Given the description of an element on the screen output the (x, y) to click on. 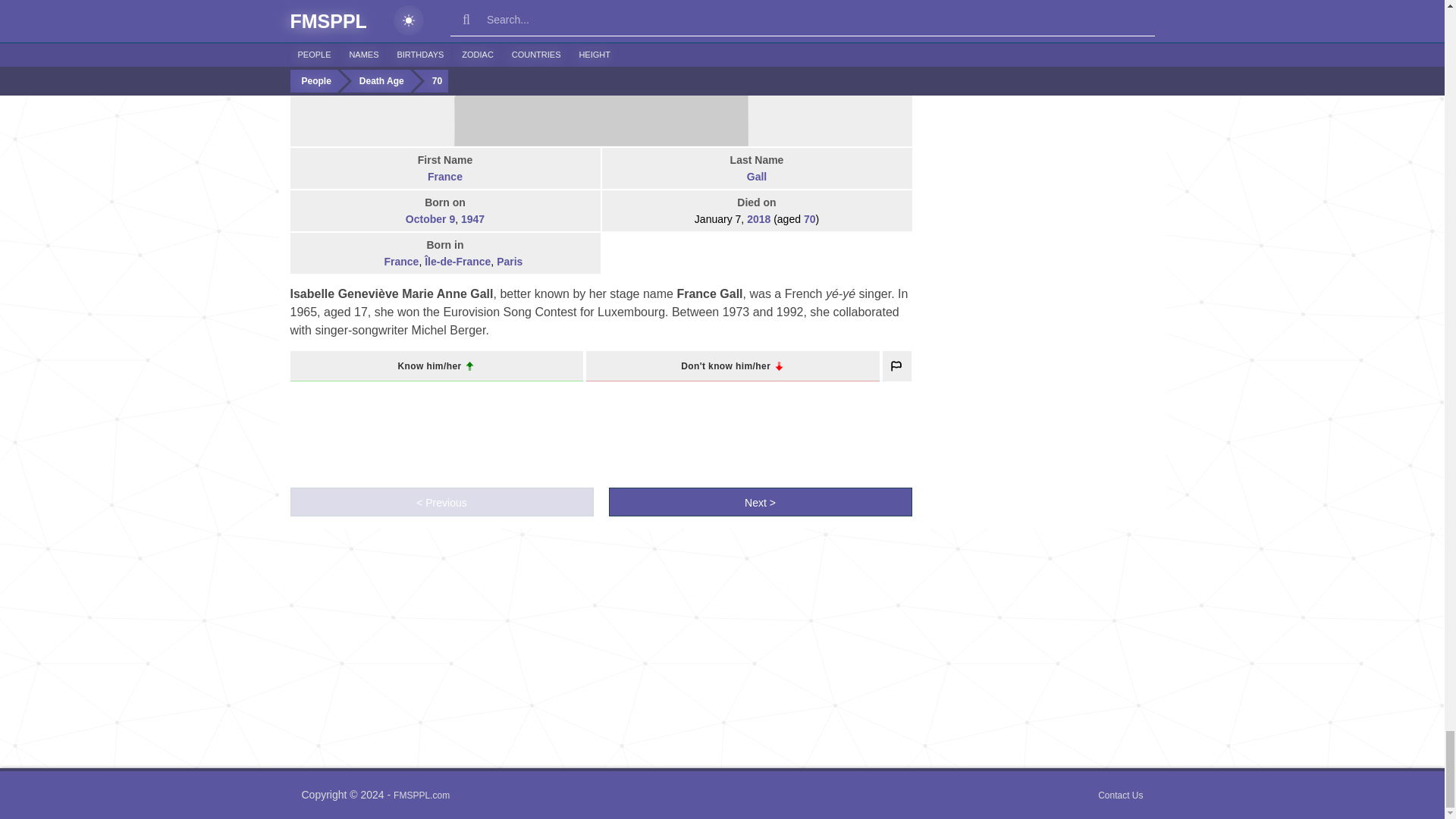
France (374, 262)
